Given the description of an element on the screen output the (x, y) to click on. 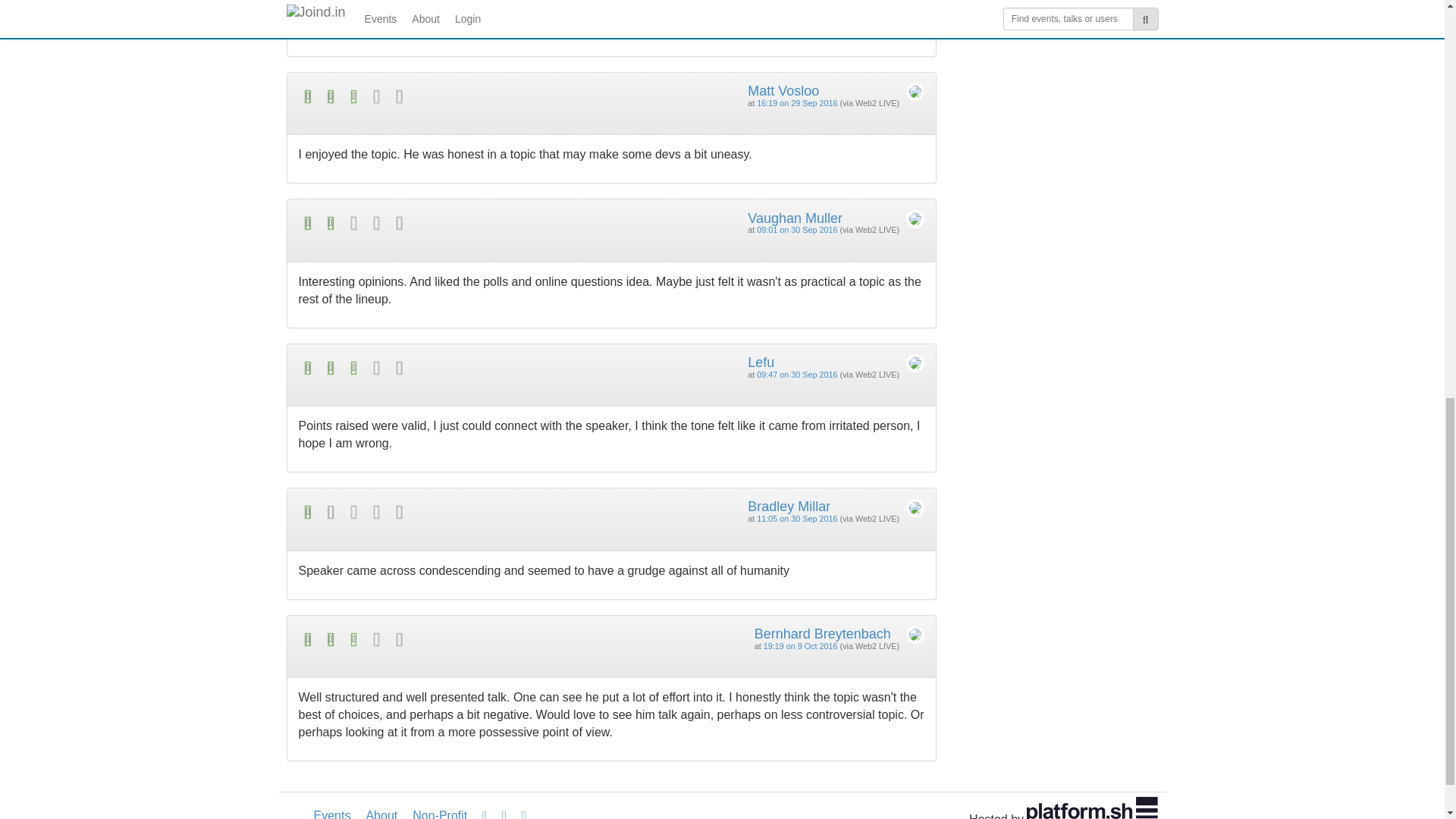
Vaughan Muller (795, 218)
Rated 3 (454, 367)
Matt Vosloo (783, 90)
09:47 on 30 Sep 2016 (797, 374)
Bernhard Breytenbach (822, 633)
Rated 3 (454, 639)
Rated 1 (454, 511)
19:19 on 9 Oct 2016 (800, 645)
11:05 on 30 Sep 2016 (797, 518)
09:01 on 30 Sep 2016 (797, 229)
Events (331, 807)
Bradley Millar (788, 506)
Lefu (761, 362)
About (381, 807)
Rated 2 (454, 222)
